Given the description of an element on the screen output the (x, y) to click on. 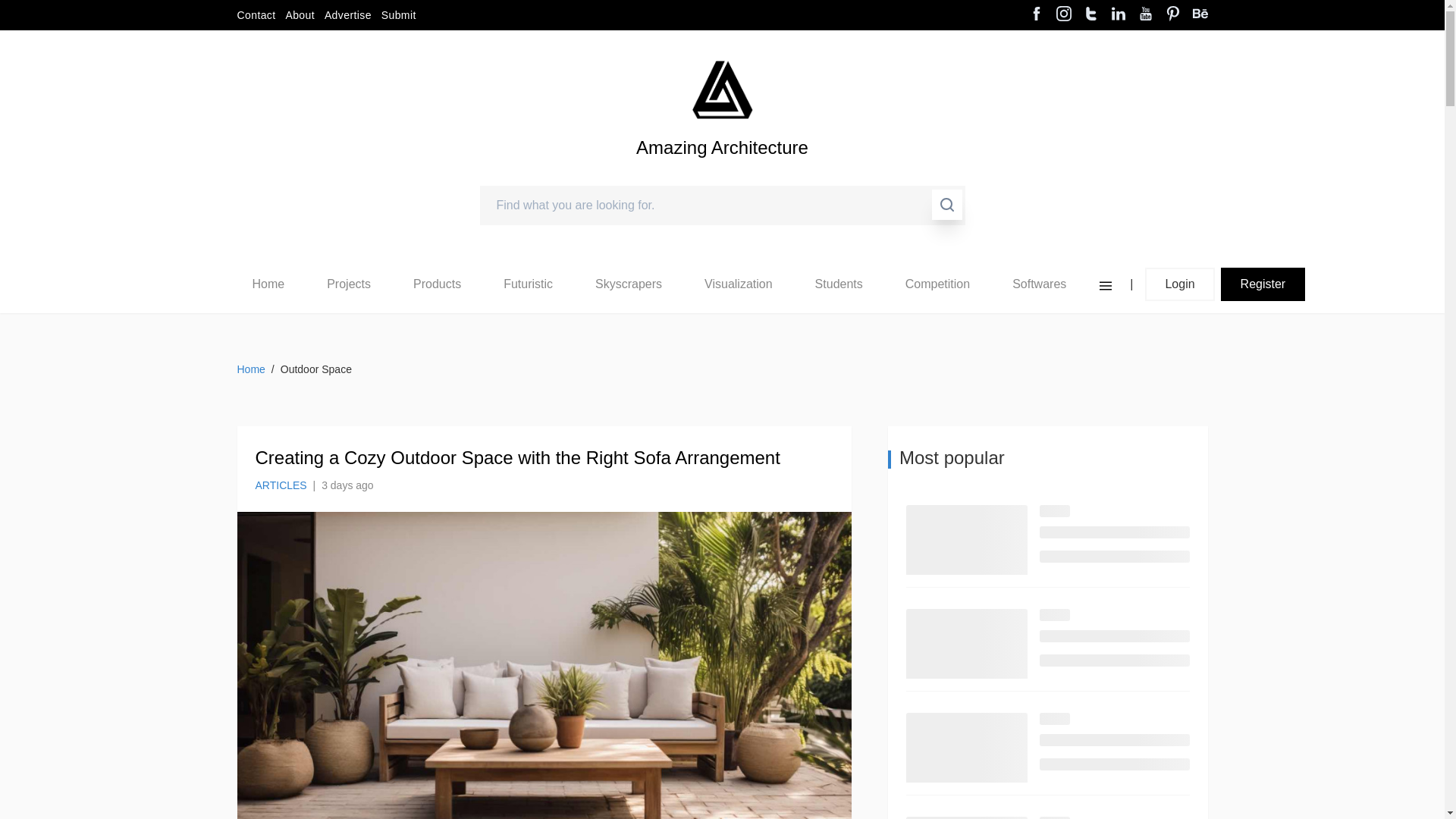
Products (437, 283)
Amazing Architecture (722, 173)
Submit page (398, 15)
Futuristic (528, 283)
Projects (348, 283)
About us page (299, 15)
Home (267, 283)
Amazing Architecture (722, 173)
Submit (398, 15)
About (299, 15)
